Given the description of an element on the screen output the (x, y) to click on. 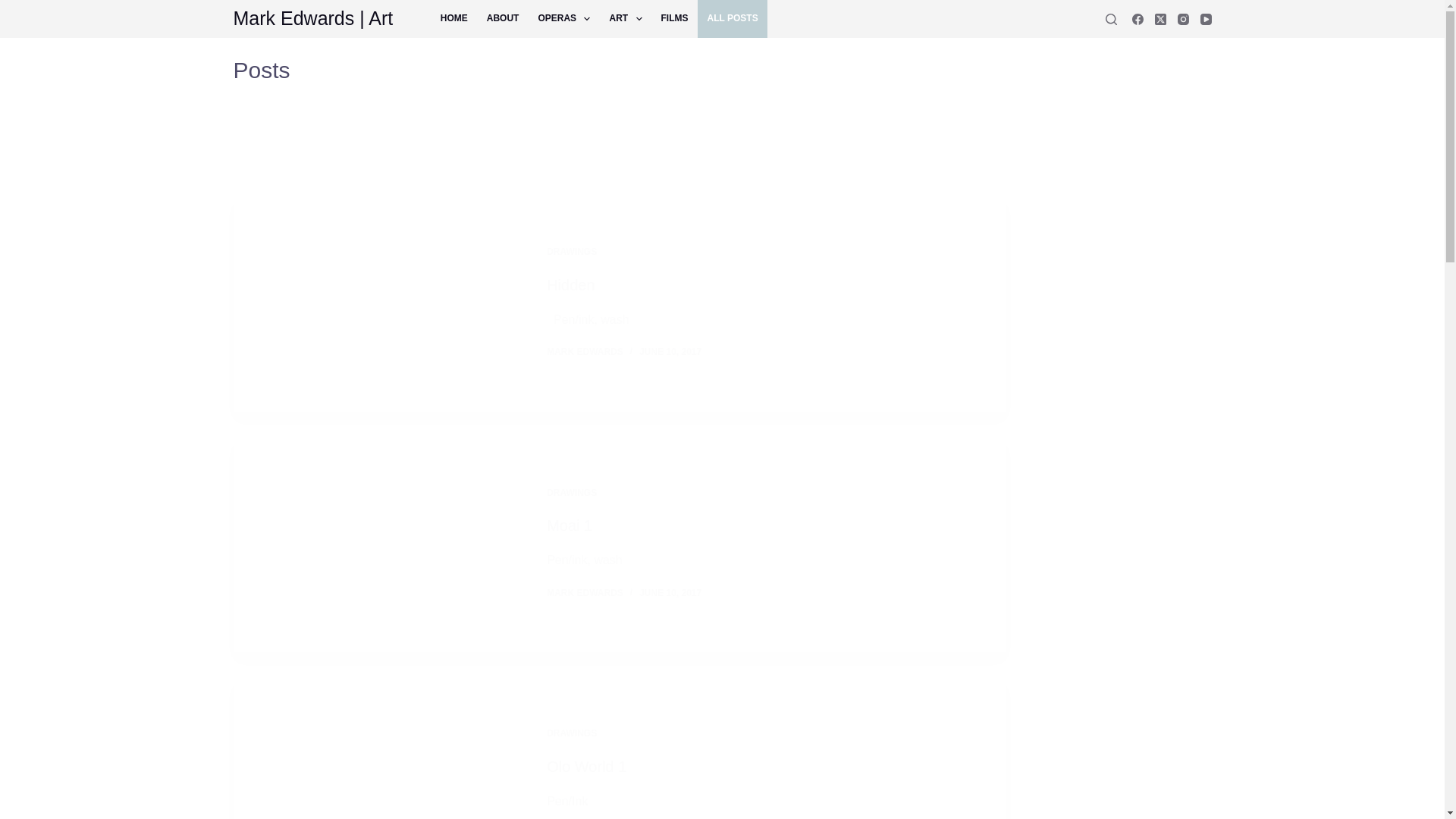
ALL POSTS (732, 18)
HOME (453, 18)
OPERAS (563, 18)
Posts by Mark Edwards (585, 593)
Posts by Mark Edwards (585, 351)
ABOUT (502, 18)
FILMS (673, 18)
Skip to content (15, 7)
ART (624, 18)
Posts (619, 69)
